Given the description of an element on the screen output the (x, y) to click on. 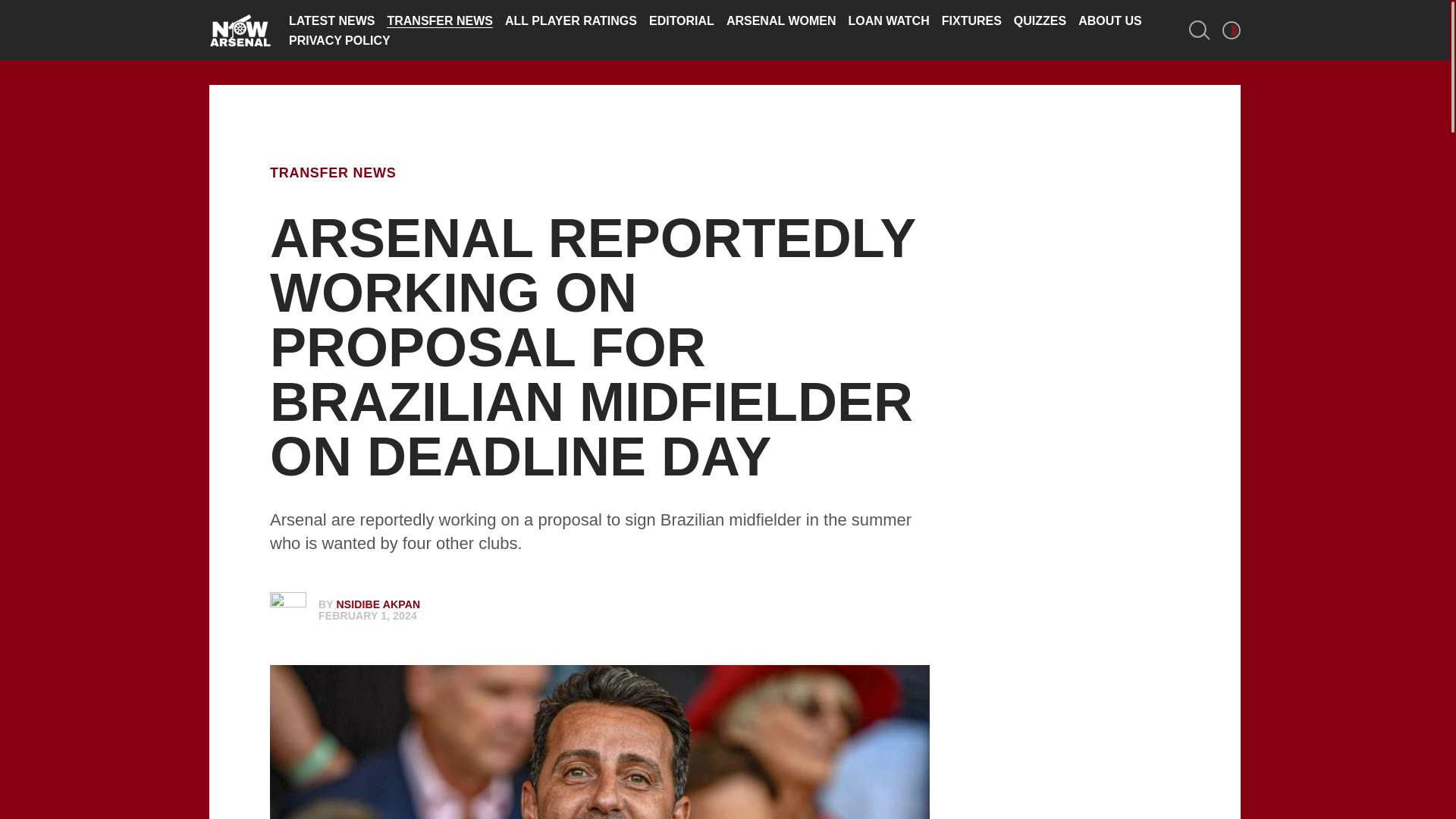
FIXTURES (971, 20)
LIGHT MODE (1231, 30)
PRIVACY POLICY (339, 40)
QUIZZES (1039, 20)
LOAN WATCH (887, 20)
ABOUT US (1109, 20)
NSIDIBE AKPAN (378, 604)
TRANSFER NEWS (332, 172)
LATEST NEWS (331, 20)
ARSENAL WOMEN (780, 20)
